Given the description of an element on the screen output the (x, y) to click on. 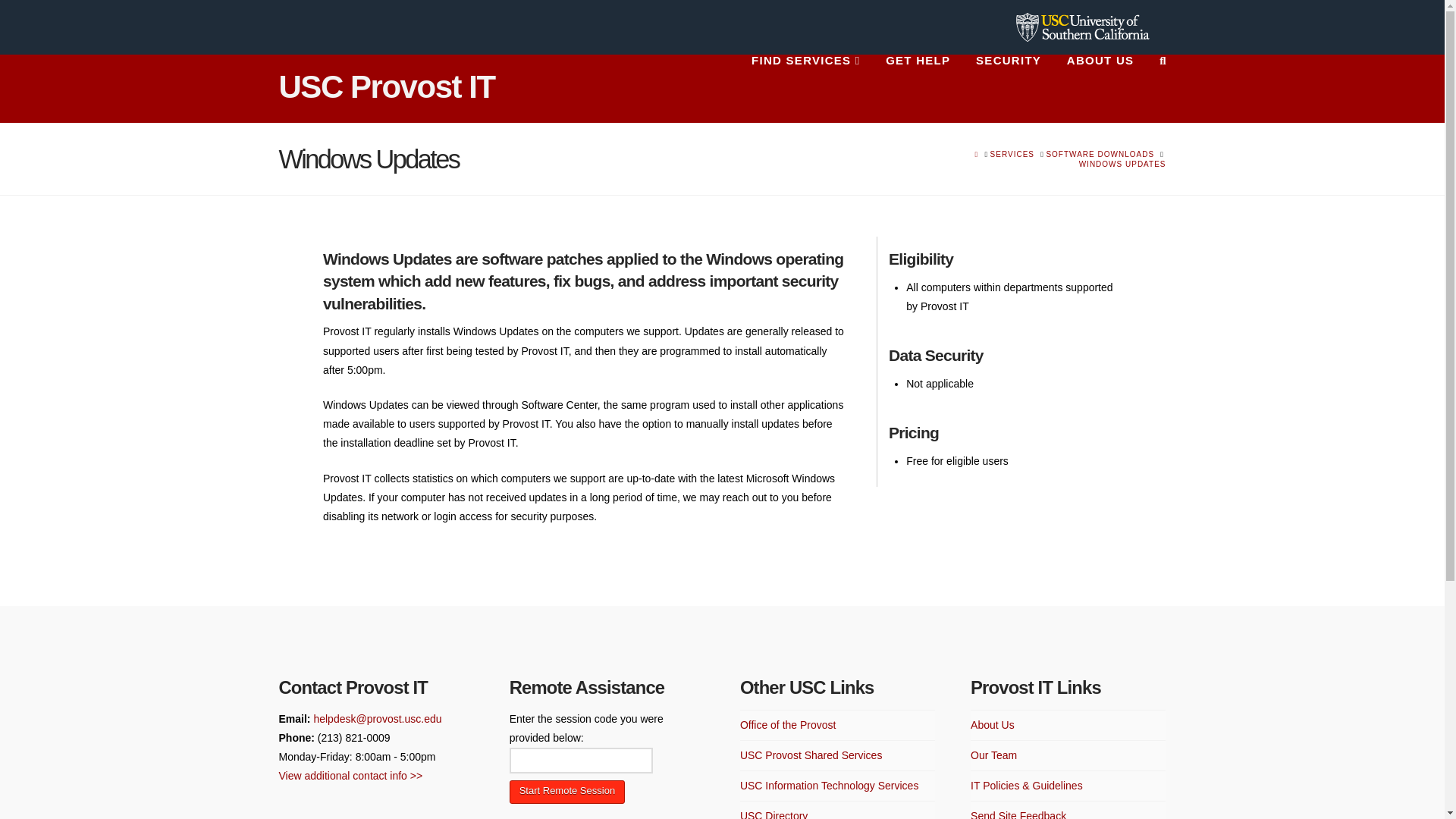
ABOUT US (1098, 88)
WINDOWS UPDATES (1122, 163)
Office of the Provost (787, 725)
GET HELP (917, 88)
USC Provost IT (387, 87)
SECURITY (1008, 88)
FIND SERVICES (805, 88)
Start Remote Session (566, 791)
You Are Here (1122, 163)
SOFTWARE DOWNLOADS (1099, 153)
University of Southern California (1083, 24)
Start Remote Session (566, 791)
Email Provost IT (377, 718)
USC Provost Shared Services (810, 755)
